Given the description of an element on the screen output the (x, y) to click on. 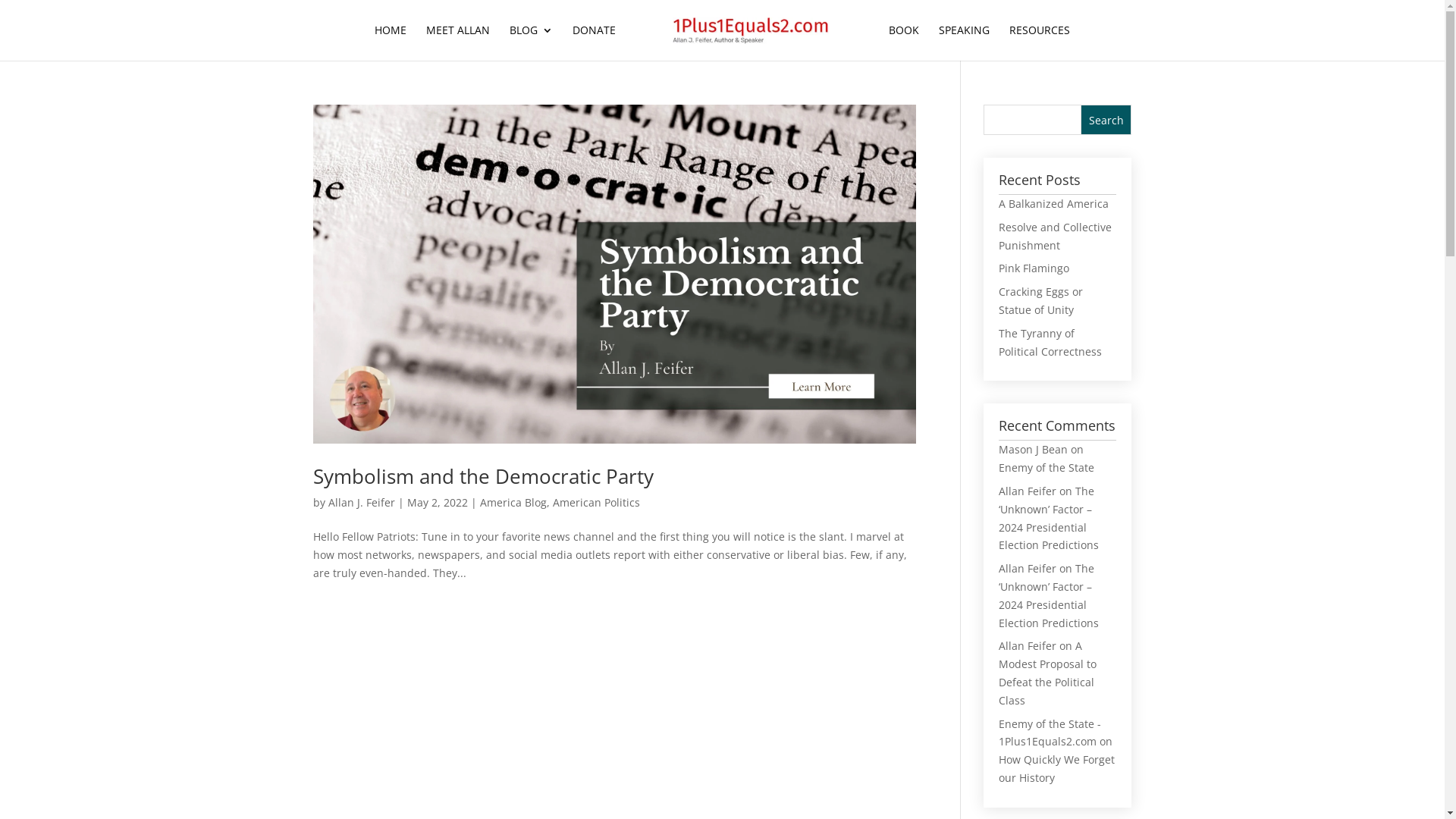
Symbolism and the Democratic Party Element type: text (482, 475)
MEET ALLAN Element type: text (457, 42)
DONATE Element type: text (593, 42)
Search Element type: text (1106, 119)
How Quickly We Forget our History Element type: text (1056, 768)
Pink Flamingo Element type: text (1033, 267)
BOOK Element type: text (903, 42)
Cracking Eggs or Statue of Unity Element type: text (1040, 300)
A Balkanized America Element type: text (1053, 203)
Allan Feifer Element type: text (1027, 645)
Enemy of the State - 1Plus1Equals2.com Element type: text (1049, 732)
Resolve and Collective Punishment Element type: text (1054, 235)
SPEAKING Element type: text (963, 42)
America Blog Element type: text (512, 502)
Allan J. Feifer Element type: text (360, 502)
Enemy of the State Element type: text (1046, 467)
The Tyranny of Political Correctness Element type: text (1049, 342)
BLOG Element type: text (530, 42)
HOME Element type: text (390, 42)
Allan Feifer Element type: text (1027, 568)
A Modest Proposal to Defeat the Political Class Element type: text (1047, 672)
American Politics Element type: text (595, 502)
RESOURCES Element type: text (1039, 42)
Allan Feifer Element type: text (1027, 490)
